Given the description of an element on the screen output the (x, y) to click on. 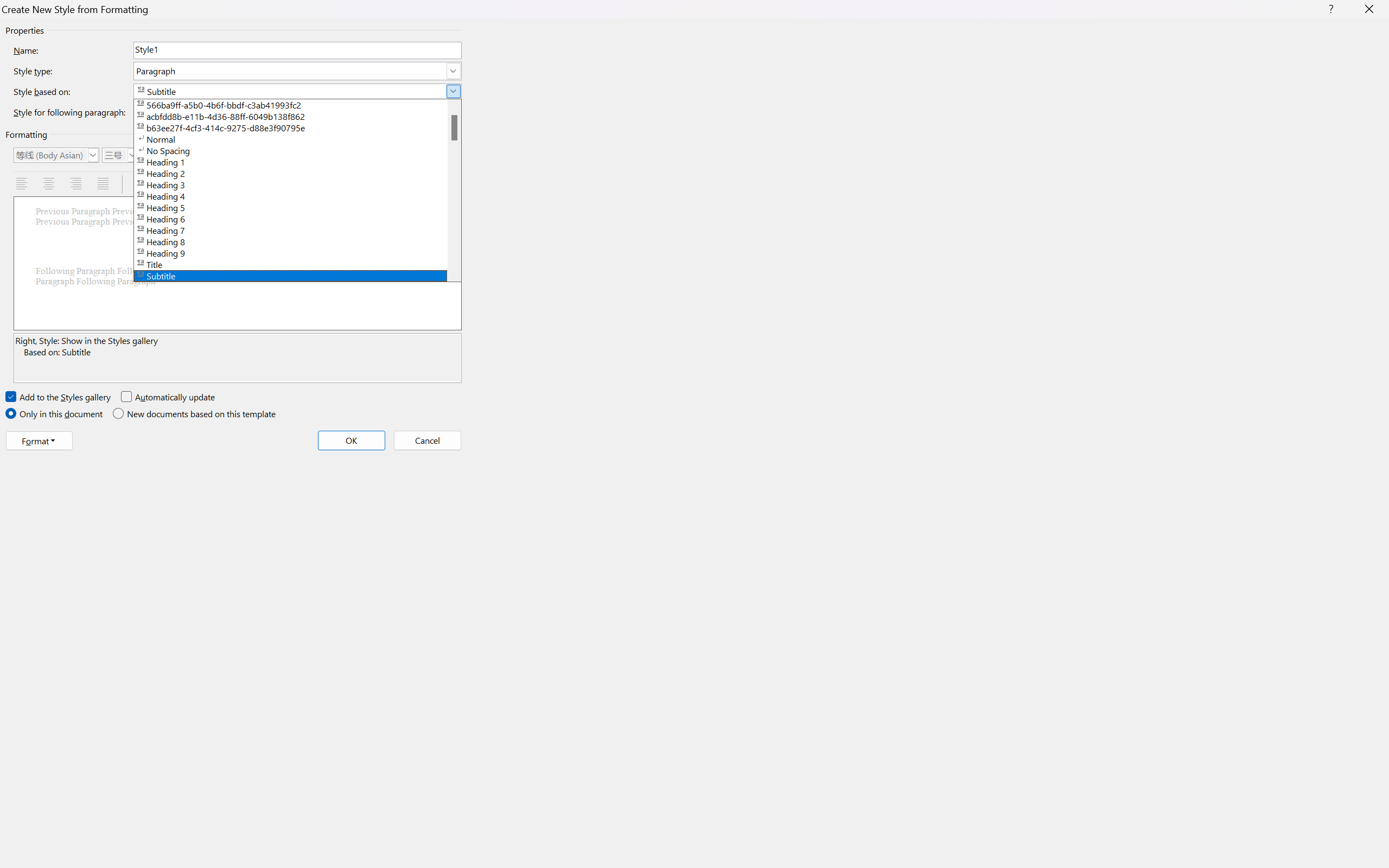
Heading 1 (297, 160)
MSO Generic Control Container (55, 155)
Formatting script (346, 154)
Only in this document (54, 413)
OK (352, 440)
Style based on: (297, 90)
Style type: (297, 70)
No Spacing (297, 149)
New documents based on this template (194, 413)
Justify (103, 183)
Italic (176, 154)
Subtitle (297, 275)
Increase Indent (334, 183)
Title (297, 263)
